Given the description of an element on the screen output the (x, y) to click on. 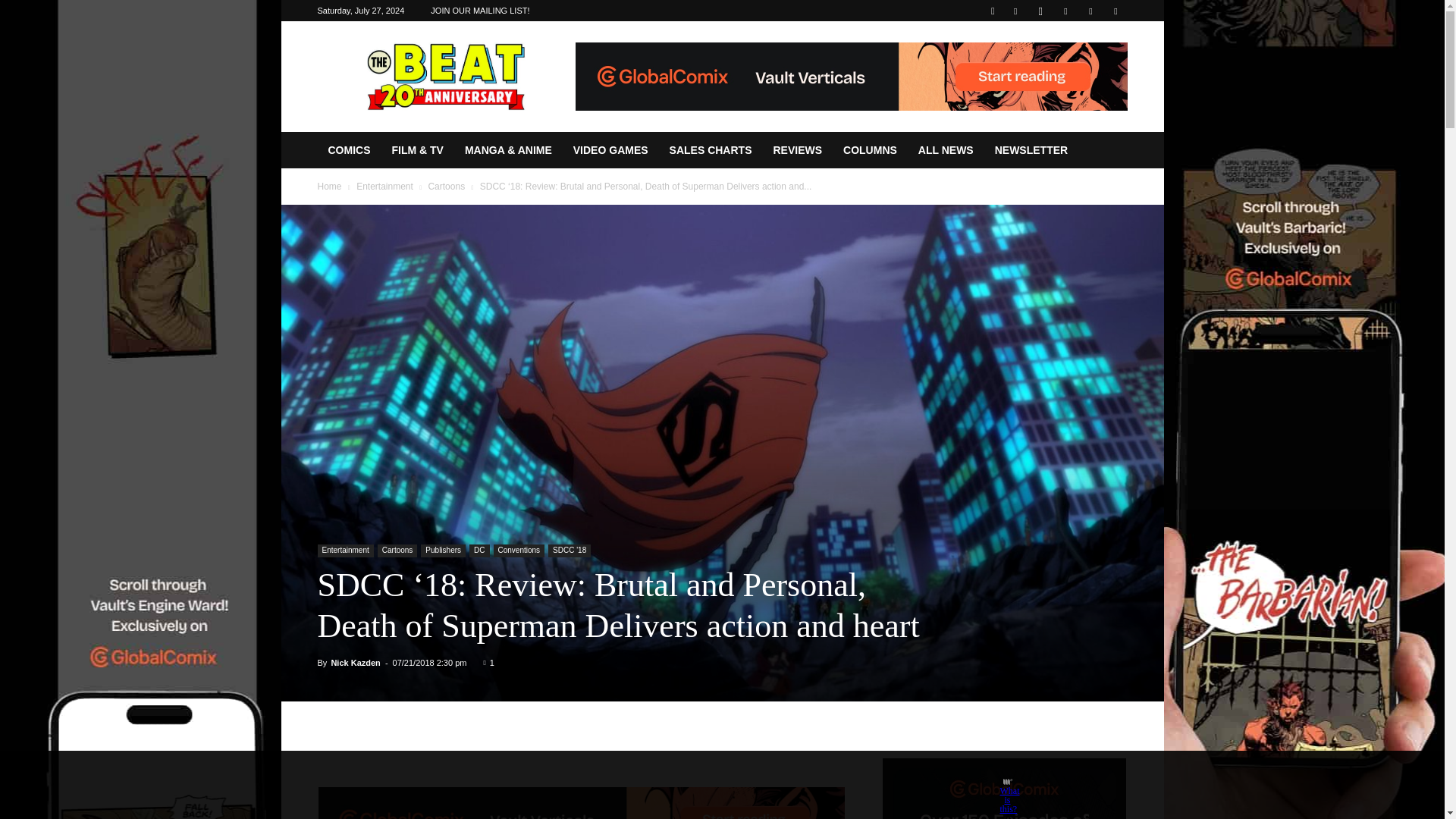
COMICS (348, 149)
SALES CHARTS (710, 149)
REVIEWS (796, 149)
Instagram (1040, 10)
View all posts in Cartoons (446, 185)
Search (1085, 64)
View all posts in Entertainment (384, 185)
JOIN OUR MAILING LIST! (479, 10)
RSS (1065, 10)
Facebook (1015, 10)
Twitter (1090, 10)
NEWSLETTER (1031, 149)
Youtube (1114, 10)
VIDEO GAMES (610, 149)
